Given the description of an element on the screen output the (x, y) to click on. 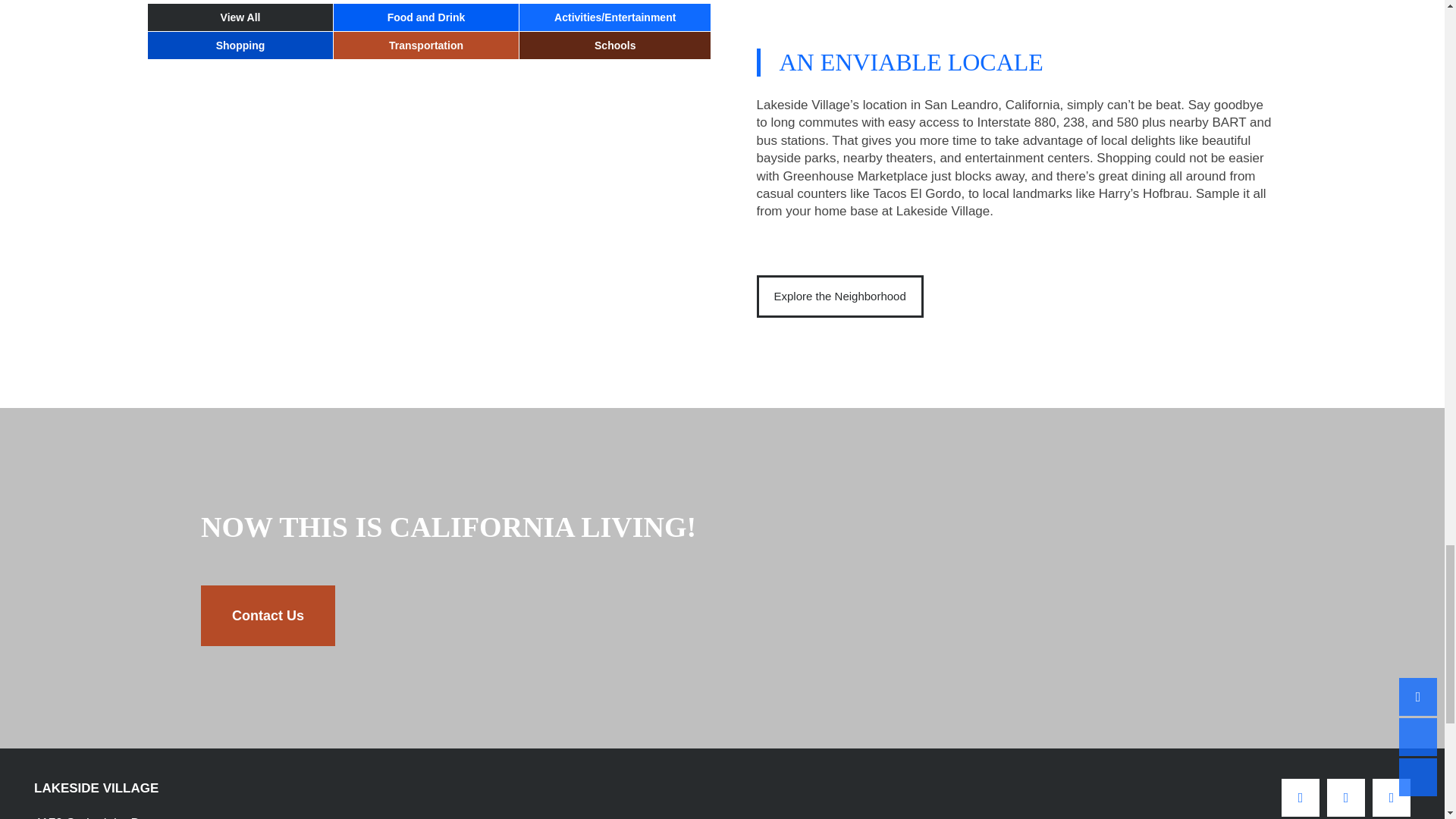
Explore the Neighborhood (840, 296)
Transportation (426, 44)
Food and Drink (426, 17)
View All (240, 17)
Contact Us (267, 615)
Facebook (1300, 797)
Yelp (102, 816)
Schools (1345, 797)
Shopping (614, 44)
